Given the description of an element on the screen output the (x, y) to click on. 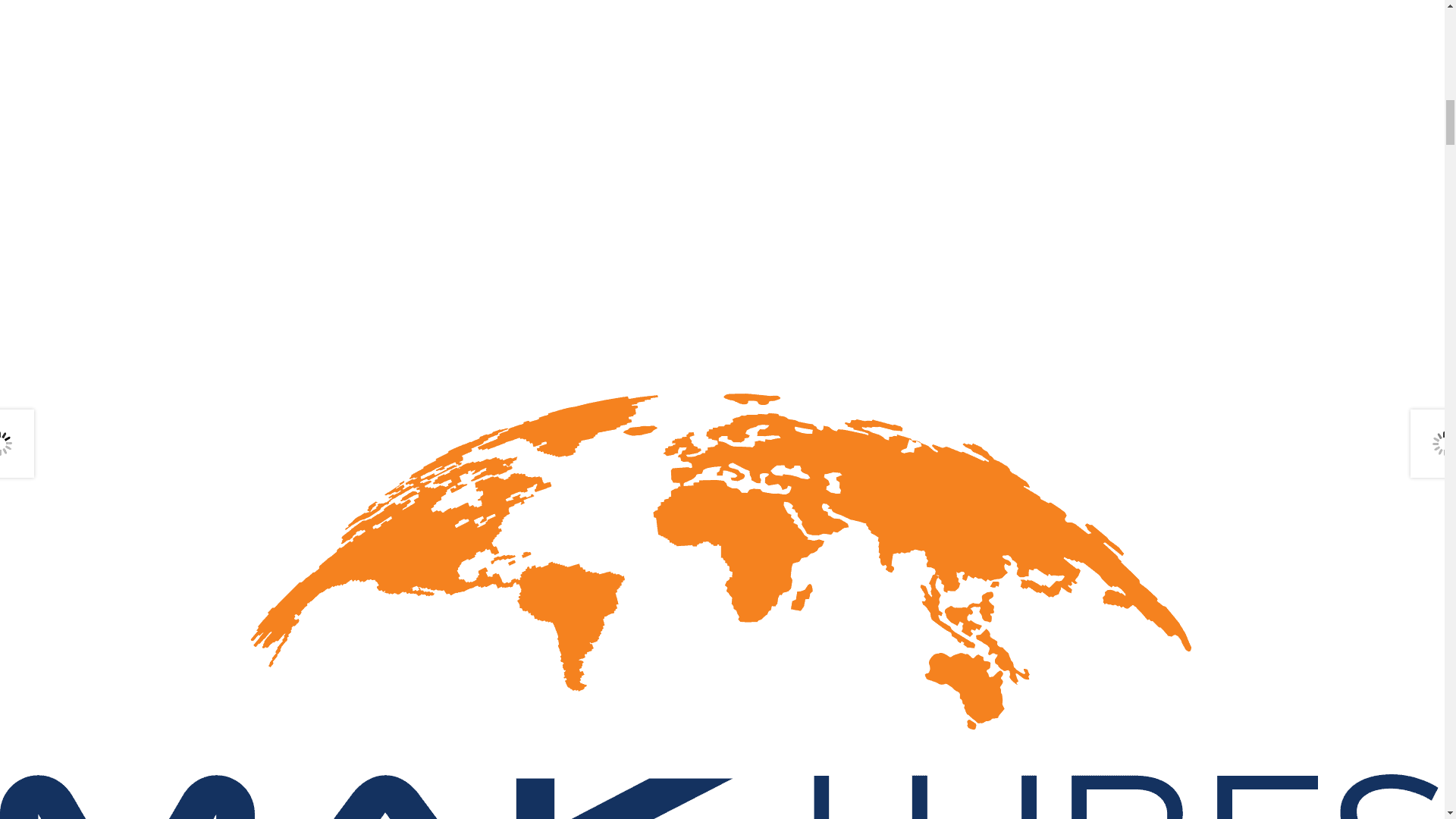
Arrow Solutions (189, 11)
